Given the description of an element on the screen output the (x, y) to click on. 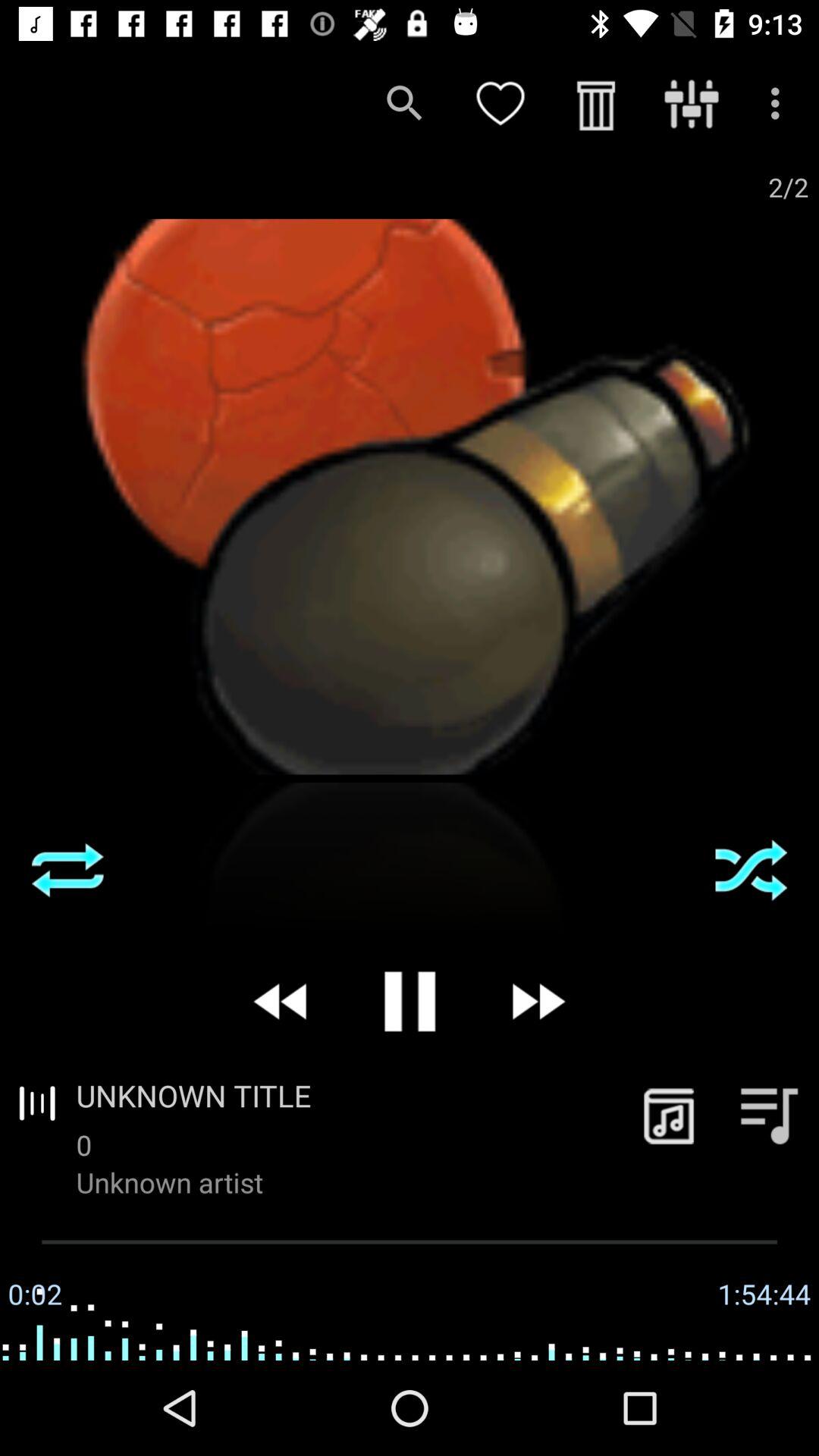
go to song information (668, 1115)
